Given the description of an element on the screen output the (x, y) to click on. 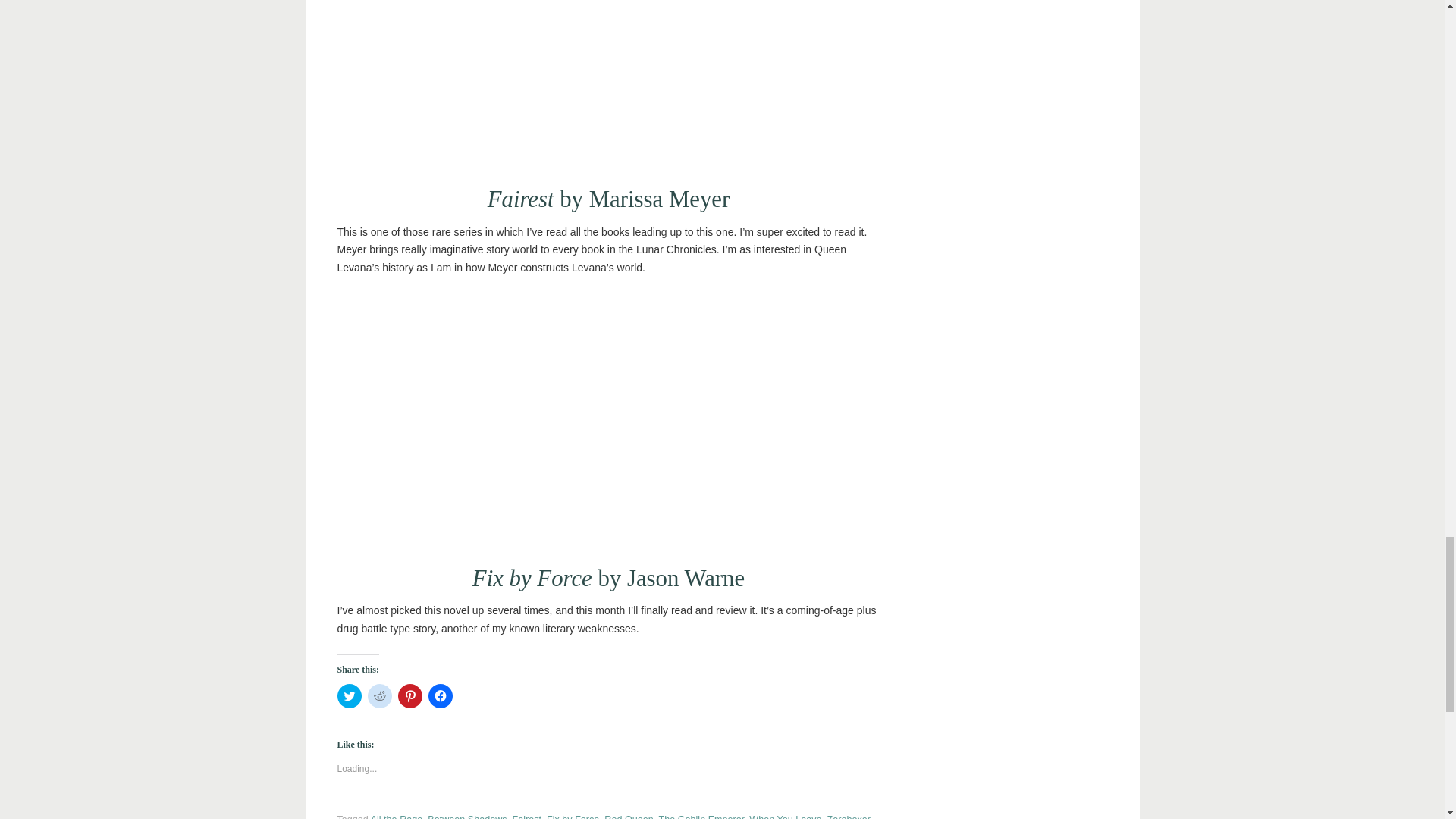
Click to share on Reddit (378, 695)
Click to share on Pinterest (409, 695)
Click to share on Twitter (348, 695)
Click to share on Facebook (439, 695)
